Given the description of an element on the screen output the (x, y) to click on. 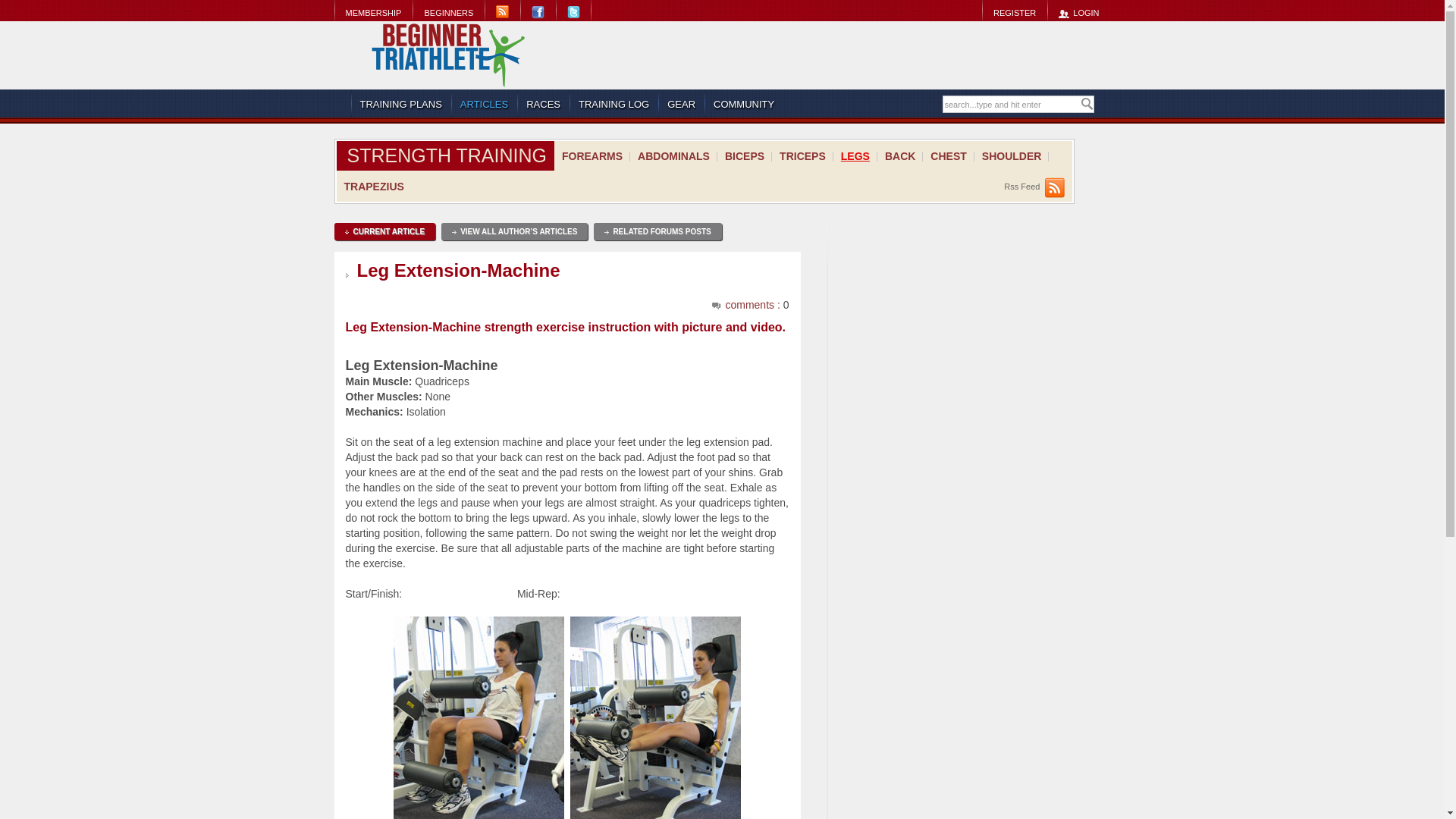
TRAINING LOG (613, 104)
BEGINNERS (448, 12)
LOGIN (1077, 12)
TRAINING PLANS (400, 104)
search...type and hit enter (1010, 104)
MEMBERSHIP (372, 12)
ARTICLES (484, 104)
RACES (542, 104)
REGISTER (1013, 12)
